Given the description of an element on the screen output the (x, y) to click on. 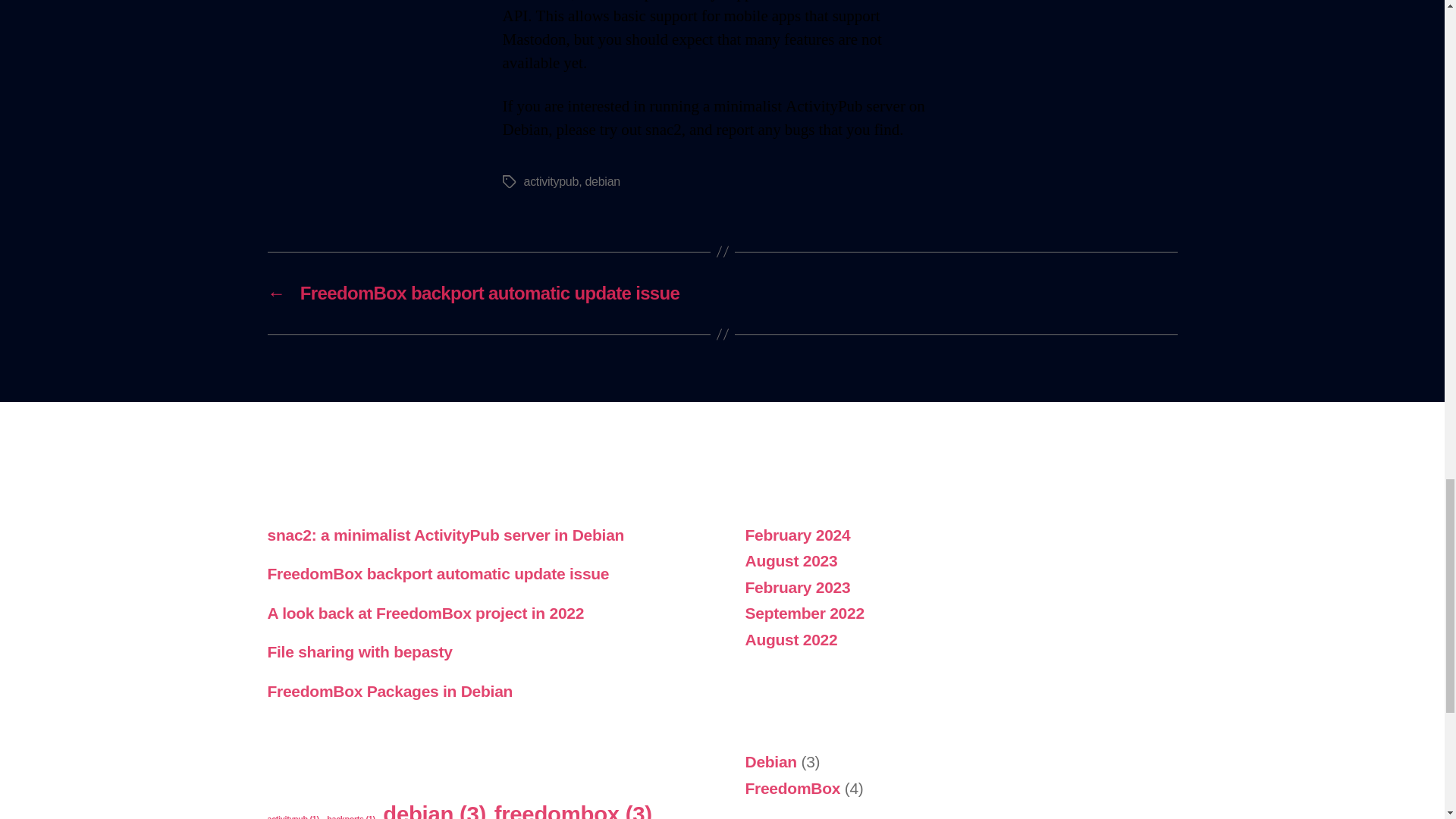
February 2024 (797, 534)
A look back at FreedomBox project in 2022 (424, 612)
August 2022 (790, 639)
debian (602, 181)
February 2023 (797, 587)
Debian (770, 761)
snac2: a minimalist ActivityPub server in Debian (445, 534)
File sharing with bepasty (358, 651)
August 2023 (790, 560)
FreedomBox backport automatic update issue (437, 573)
